Given the description of an element on the screen output the (x, y) to click on. 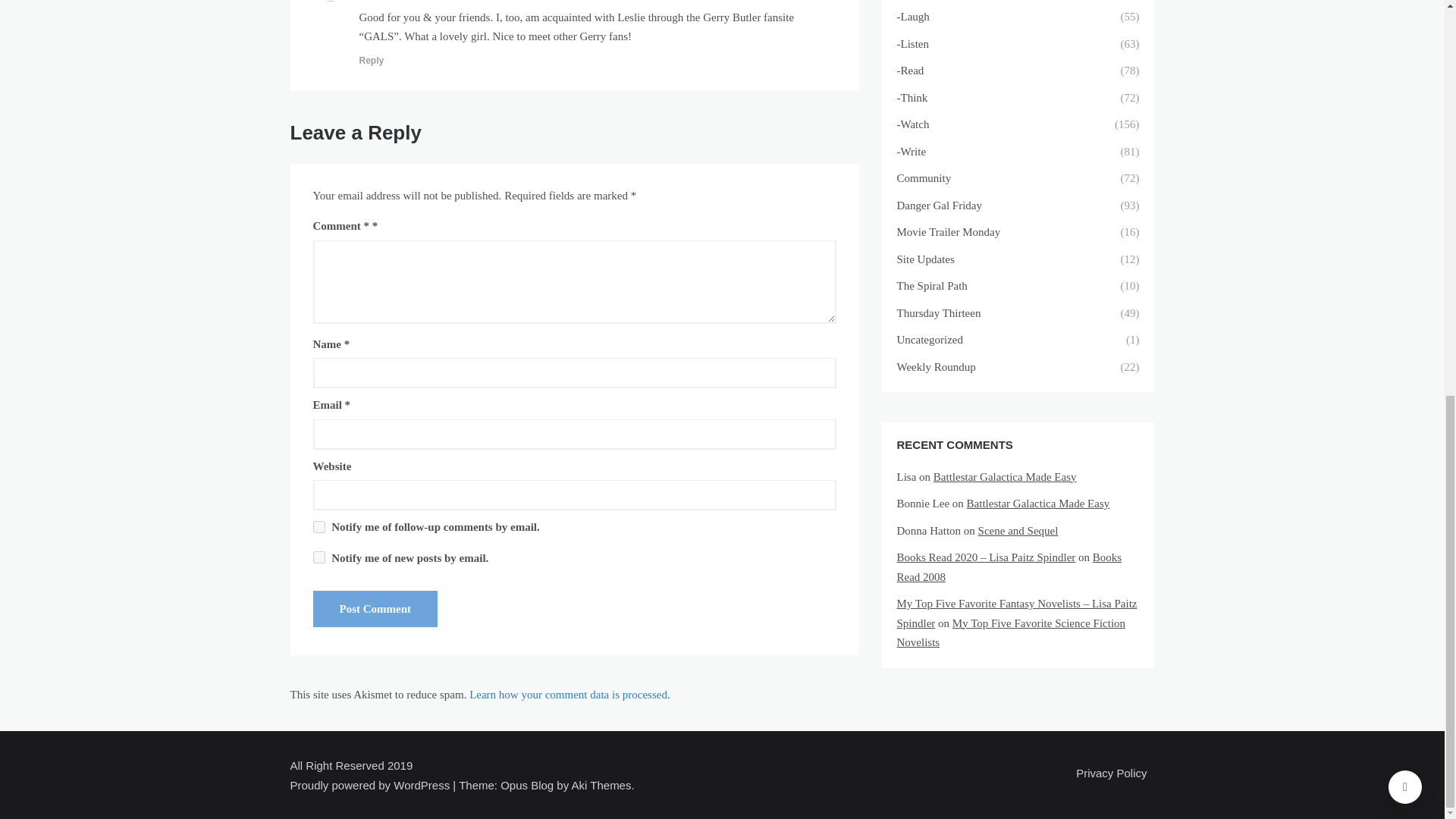
Reply (371, 60)
Go to Top (1405, 22)
Learn how your comment data is processed (567, 694)
Post Comment (375, 608)
Post Comment (375, 608)
subscribe (318, 526)
subscribe (318, 557)
